Given the description of an element on the screen output the (x, y) to click on. 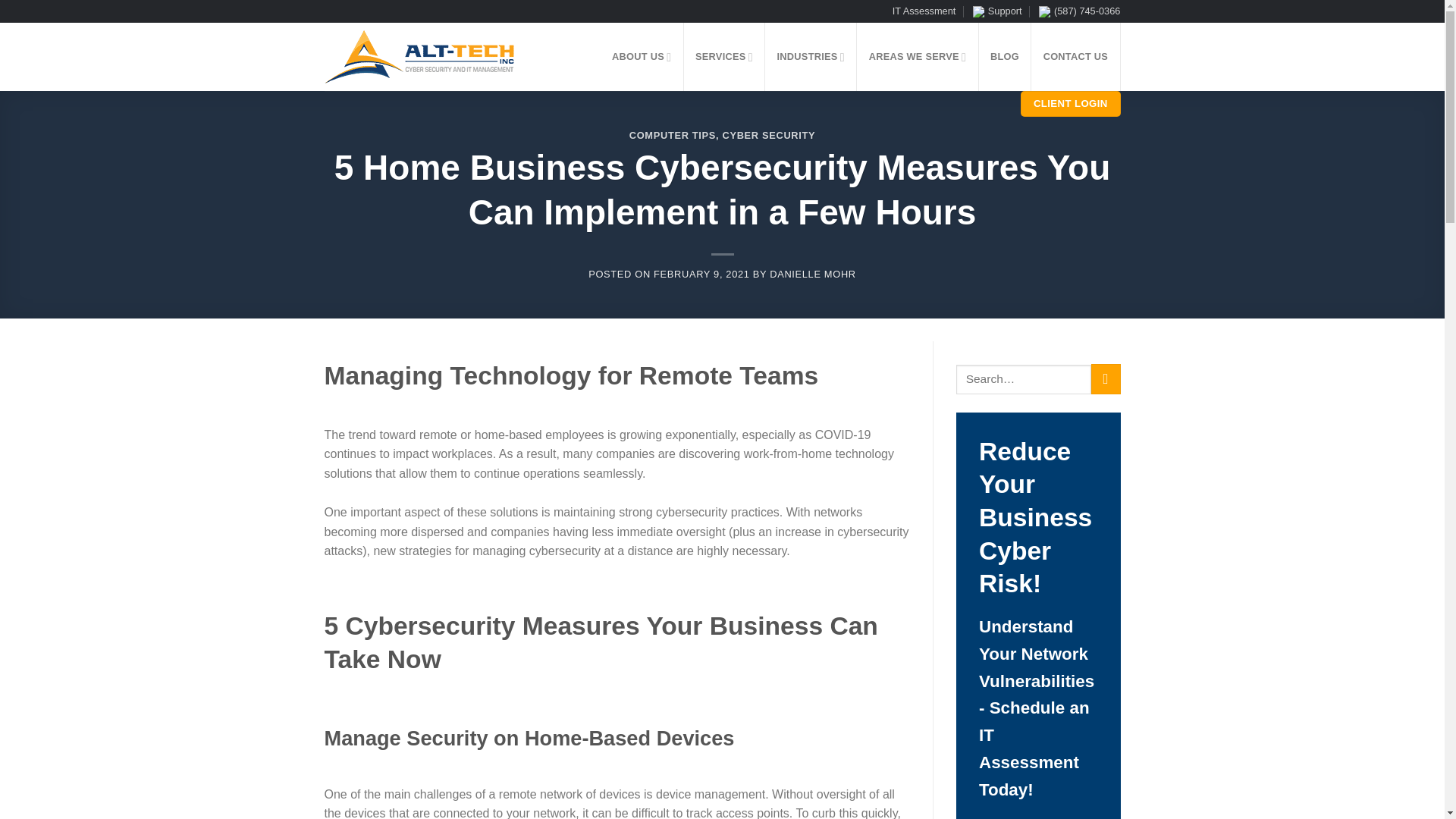
IT Assessment (924, 11)
Alt-Tech Inc. - Technology Solutions Simplified (429, 56)
INDUSTRIES (811, 56)
Support (997, 11)
ABOUT US (641, 56)
SERVICES (724, 56)
